Given the description of an element on the screen output the (x, y) to click on. 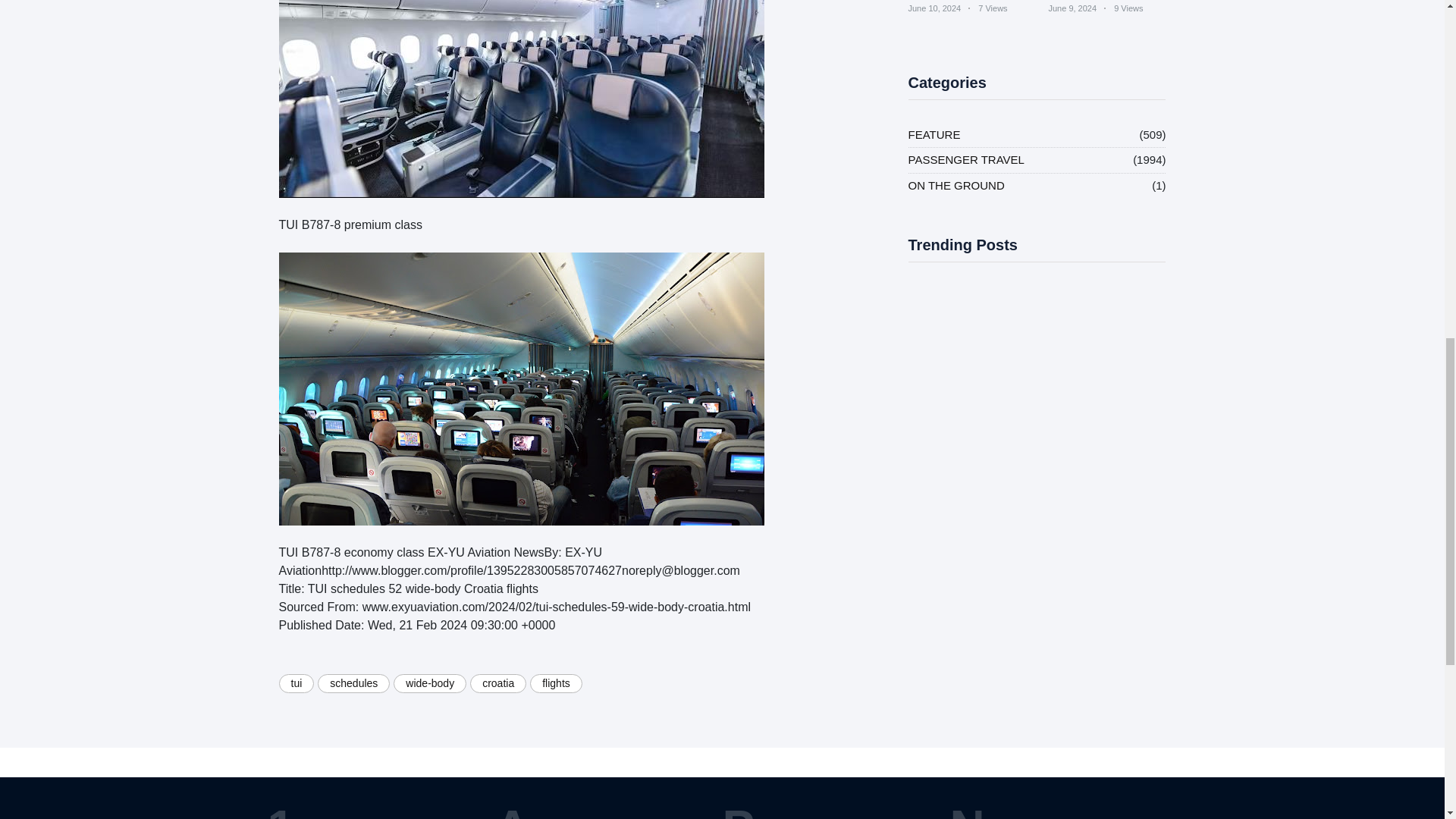
FEATURE (934, 135)
schedules (353, 683)
tui (296, 683)
croatia (497, 683)
wide-body (429, 683)
flights (555, 683)
ON THE GROUND (956, 185)
PASSENGER TRAVEL (966, 159)
